Given the description of an element on the screen output the (x, y) to click on. 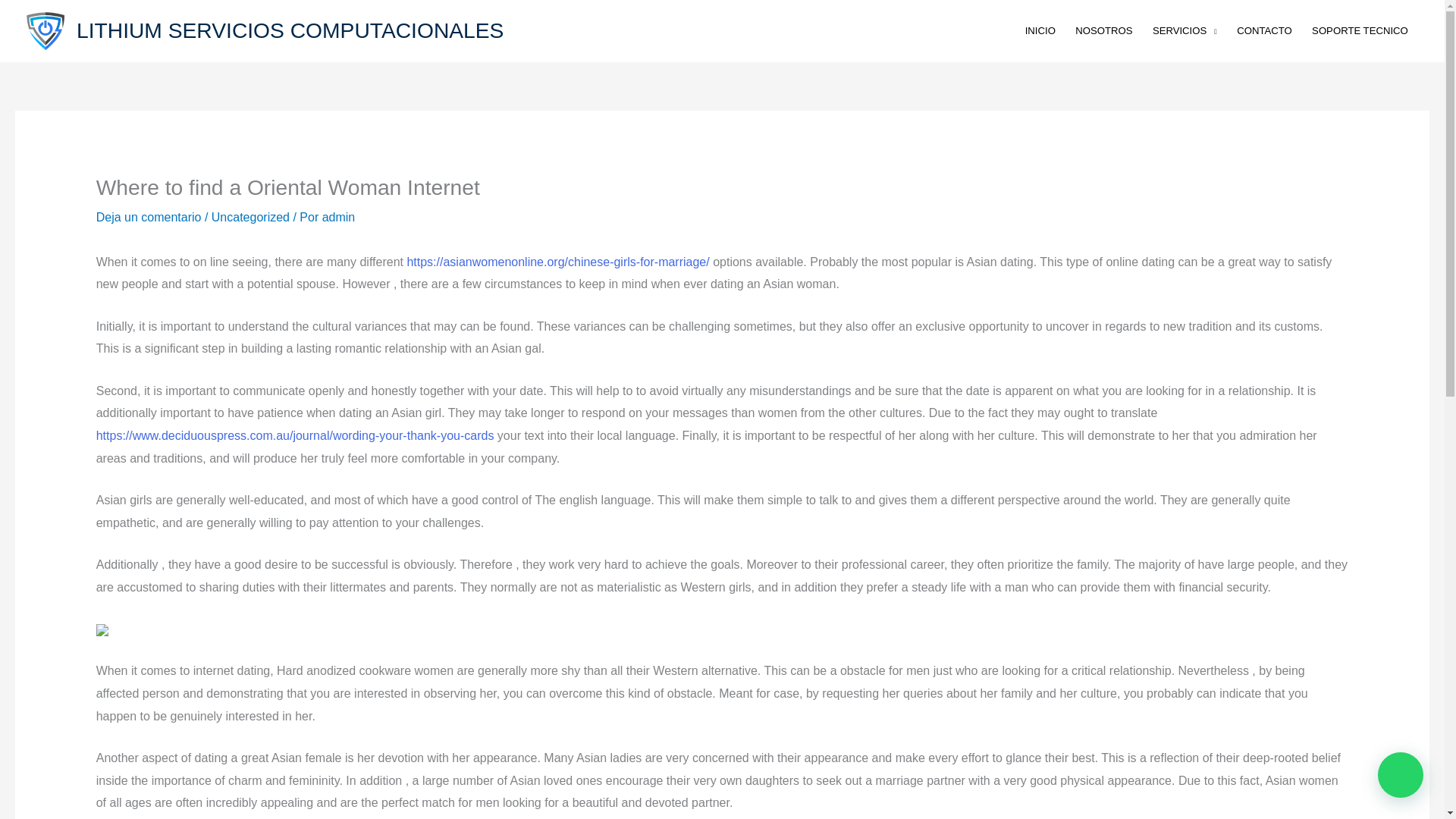
SOPORTE TECNICO (1359, 30)
Ver todas las entradas de admin (338, 216)
admin (338, 216)
SERVICIOS (1184, 30)
Deja un comentario (149, 216)
CONTACTO (1264, 30)
Uncategorized (250, 216)
INICIO (1039, 30)
NOSOTROS (1103, 30)
LITHIUM SERVICIOS COMPUTACIONALES (290, 30)
